Given the description of an element on the screen output the (x, y) to click on. 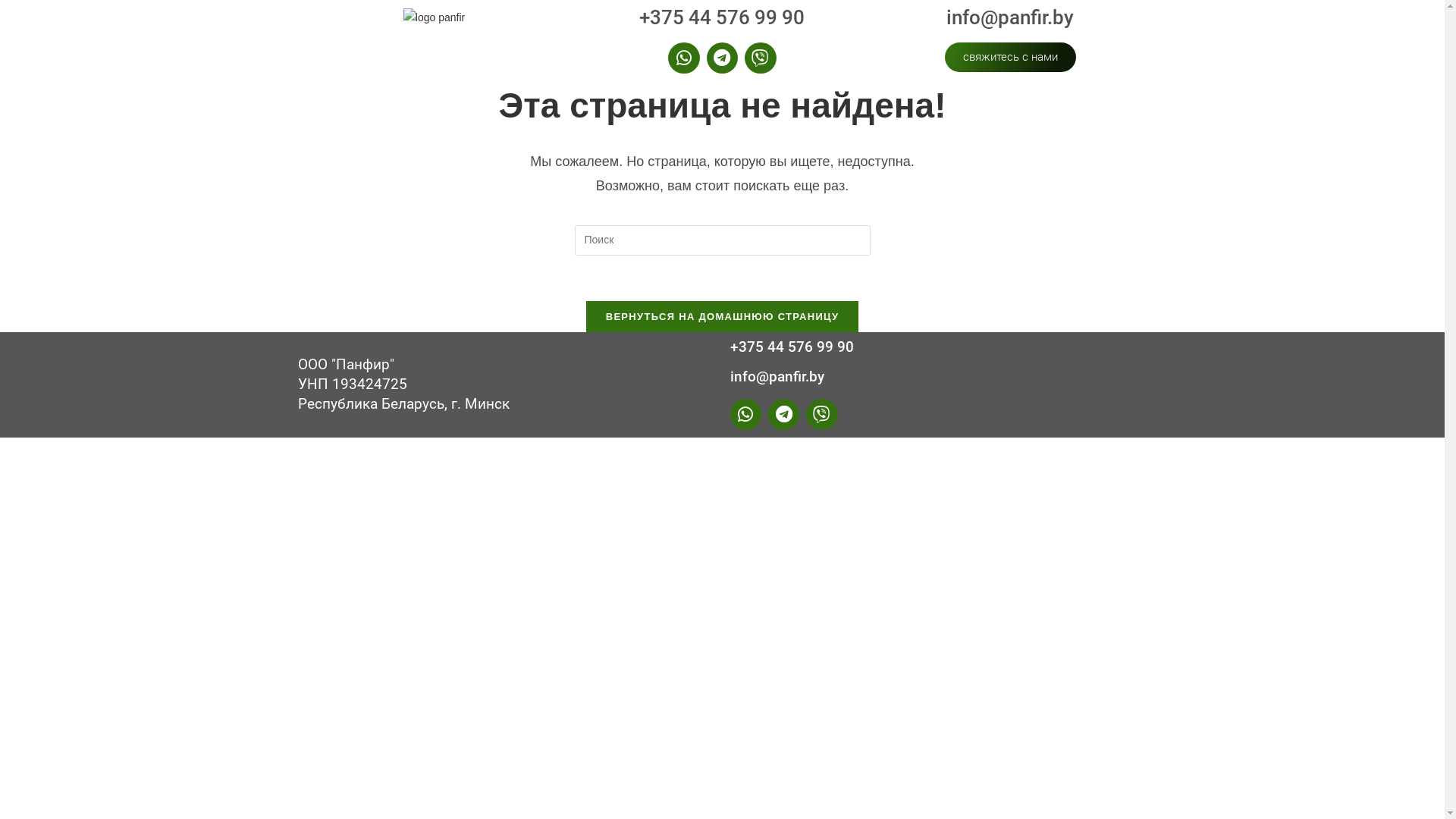
+375 44 576 99 90 Element type: text (721, 17)
info@panfir.by Element type: text (1009, 17)
info@panfir.by Element type: text (776, 376)
+375 44 576 99 90 Element type: text (791, 346)
